Given the description of an element on the screen output the (x, y) to click on. 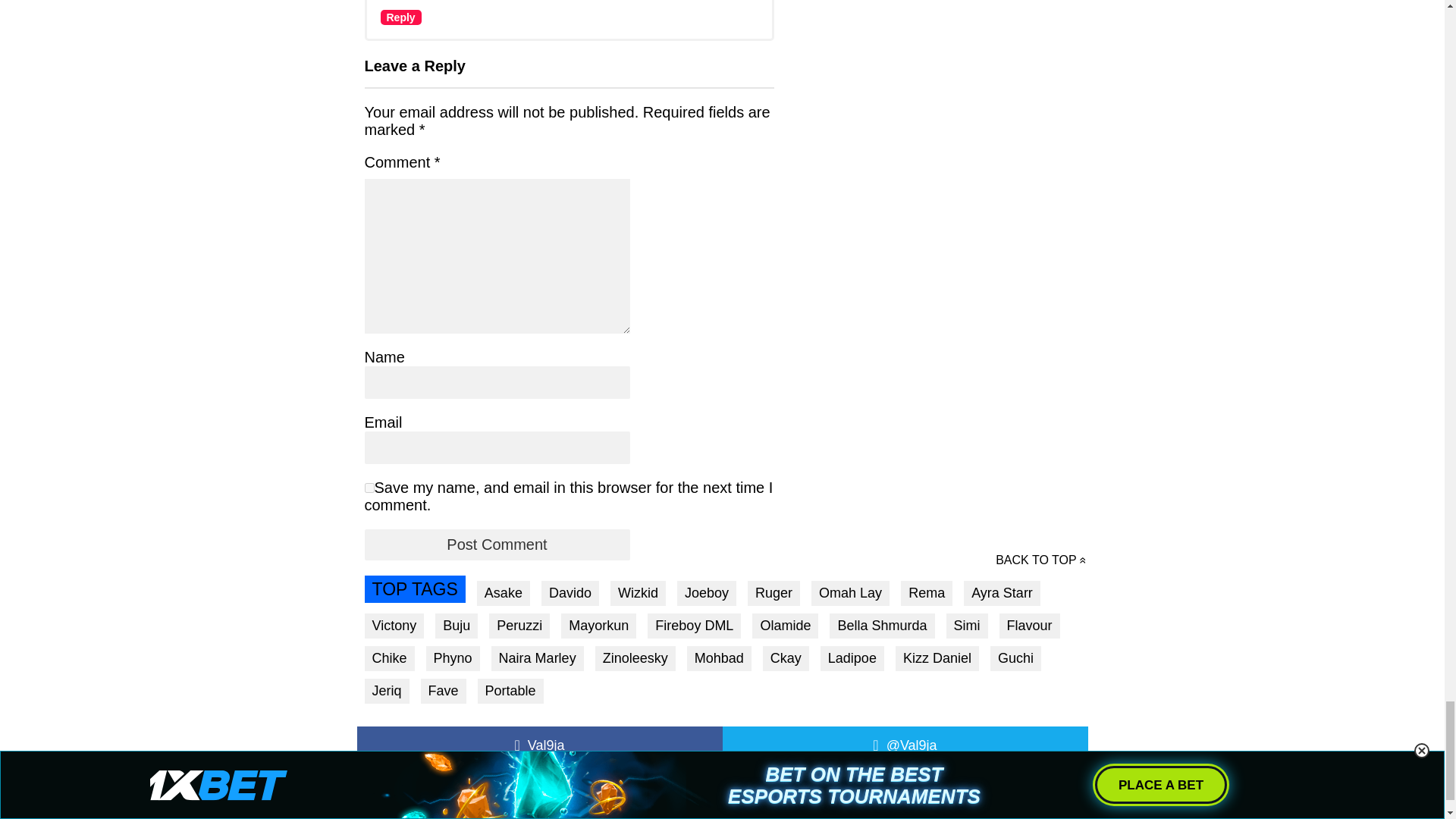
yes (369, 488)
Post Comment (496, 544)
